Given the description of an element on the screen output the (x, y) to click on. 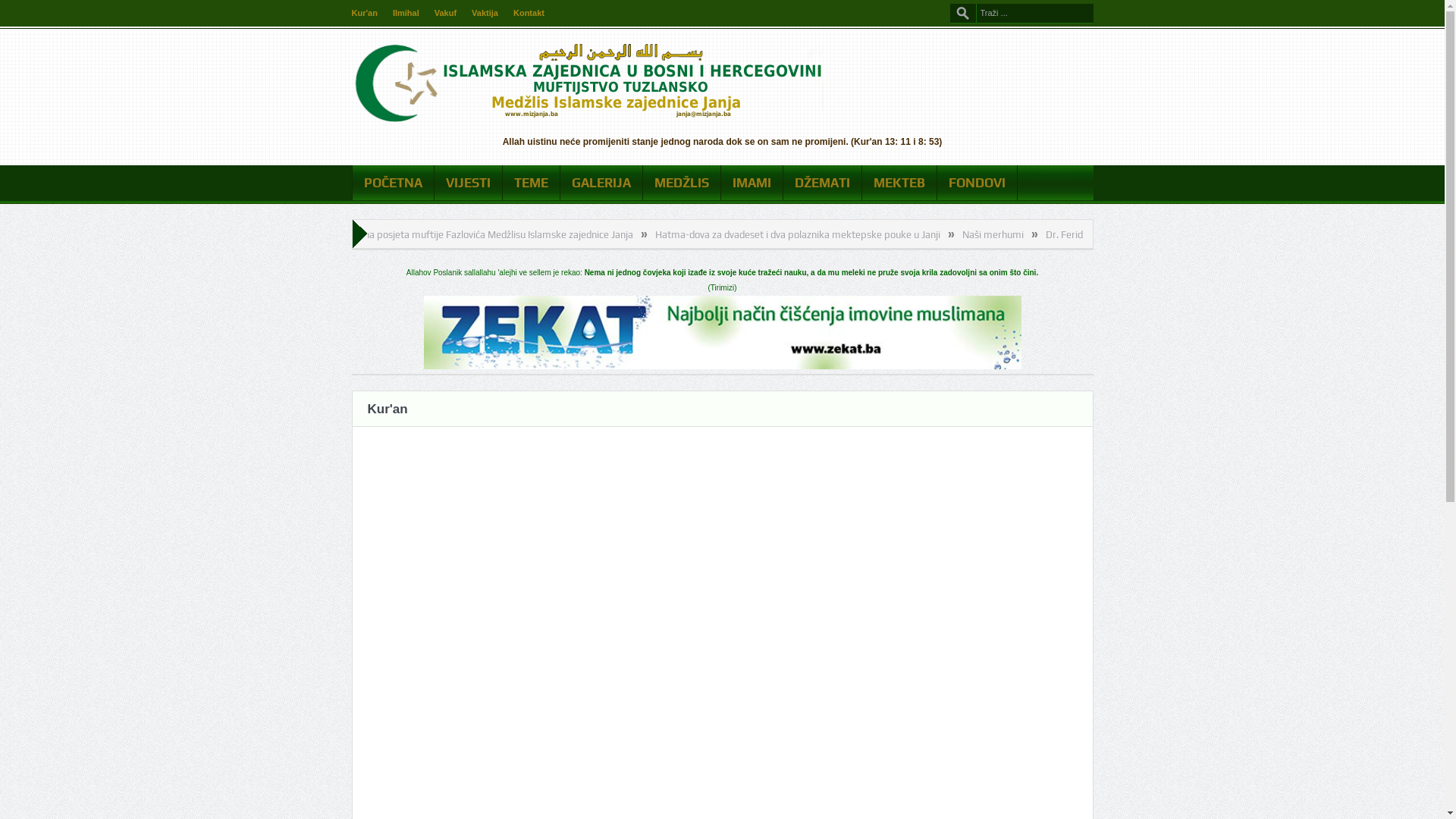
Vaktija Element type: text (484, 12)
Kur'an Element type: text (364, 12)
TEME Element type: text (530, 182)
IMAMI Element type: text (750, 182)
FONDOVI Element type: text (976, 182)
Vakuf Element type: text (445, 12)
MEKTEB Element type: text (898, 182)
Kontakt Element type: text (528, 12)
GALERIJA Element type: text (600, 182)
VIJESTI Element type: text (467, 182)
Ilmihal Element type: text (405, 12)
